Given the description of an element on the screen output the (x, y) to click on. 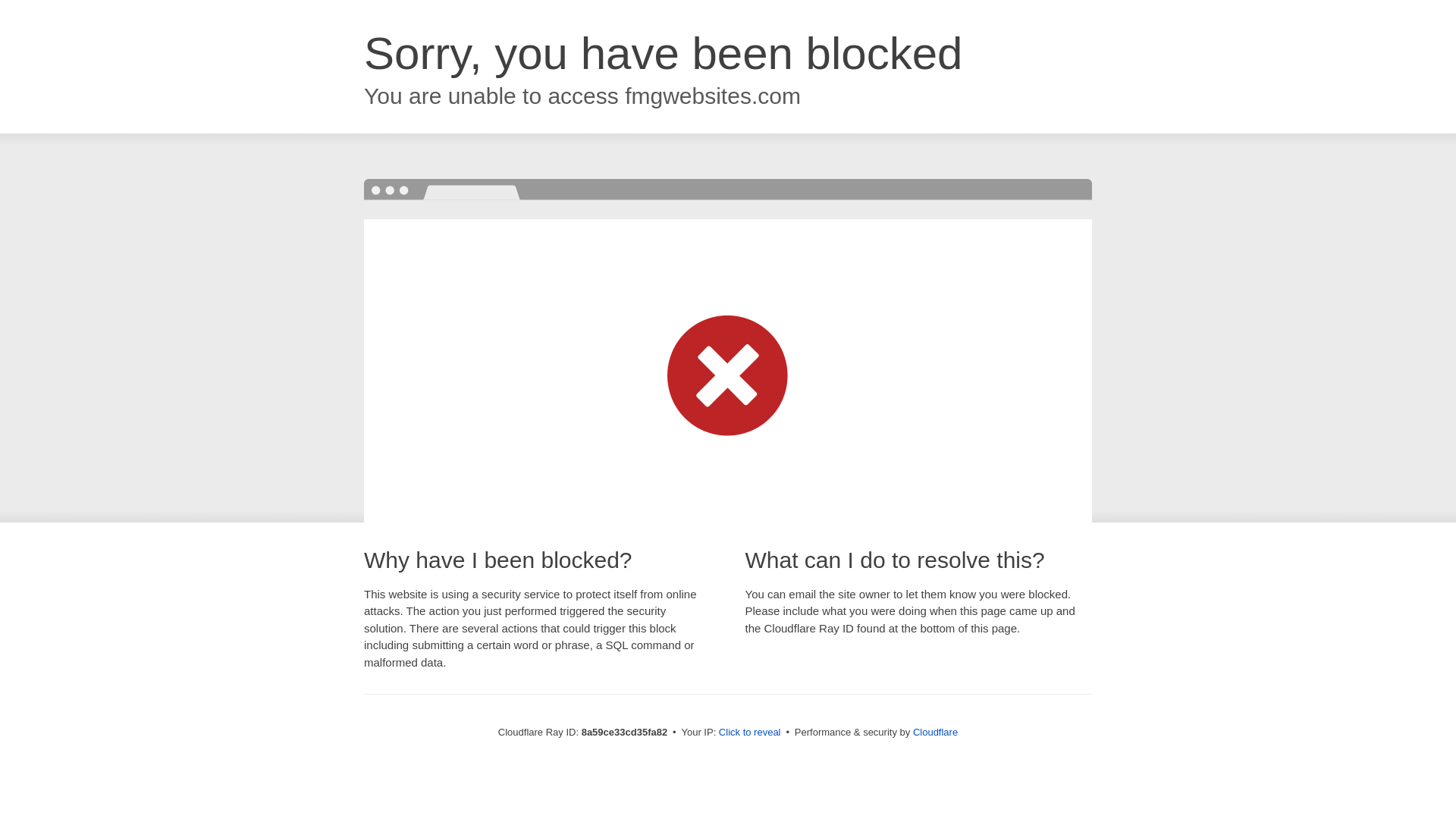
Cloudflare (935, 731)
Click to reveal (749, 732)
